Given the description of an element on the screen output the (x, y) to click on. 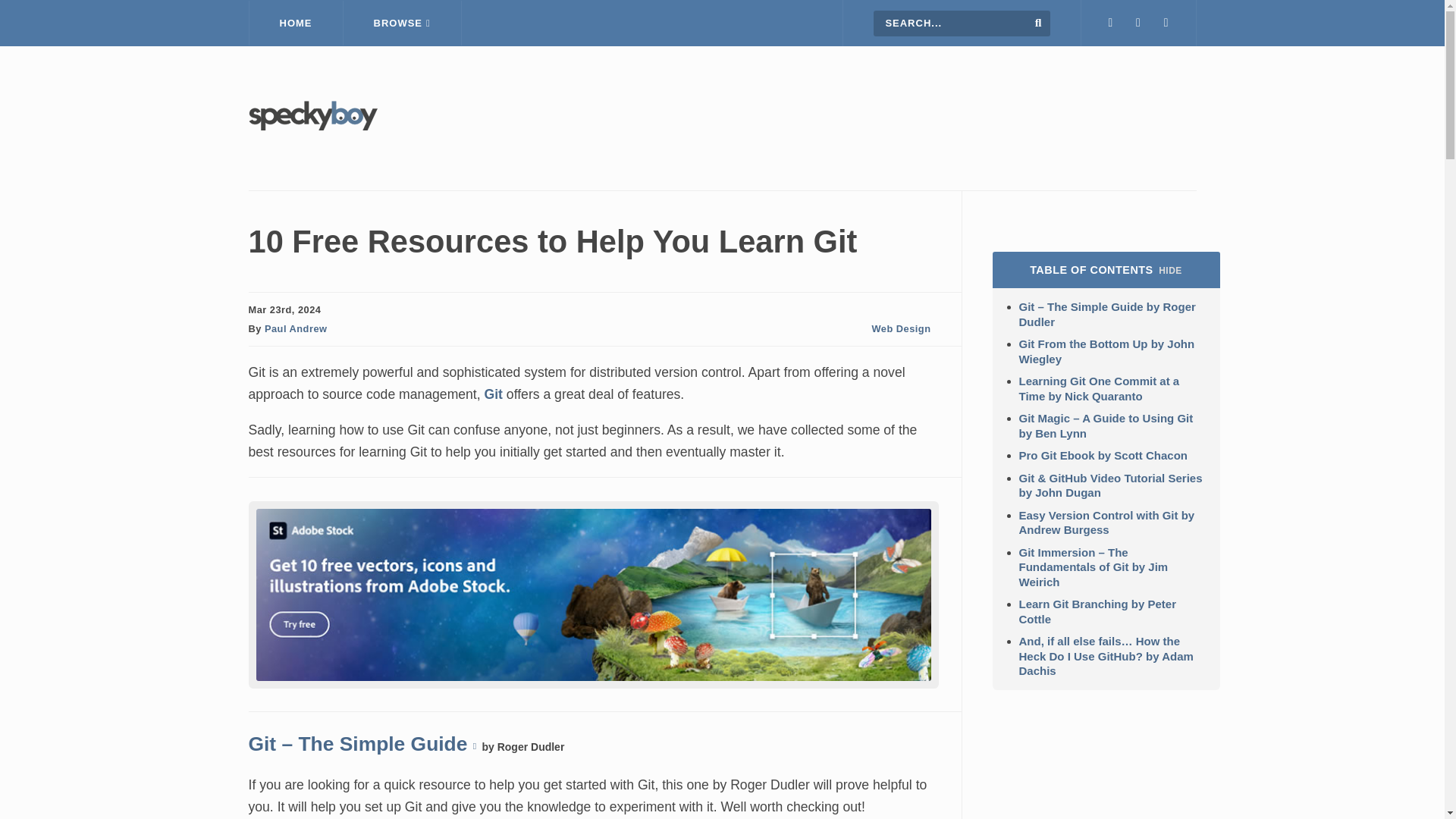
Posts by Paul Andrew (295, 328)
Download 10 free design assets from Adobe Stock (593, 676)
OUR FACEBOOK PAGE (1138, 23)
Speckyboy Design Magazine (312, 125)
RSS FEED (1166, 23)
OUR TWITTER PAGE (1110, 23)
HOME (295, 22)
BROWSE (401, 22)
Search (1038, 22)
